Given the description of an element on the screen output the (x, y) to click on. 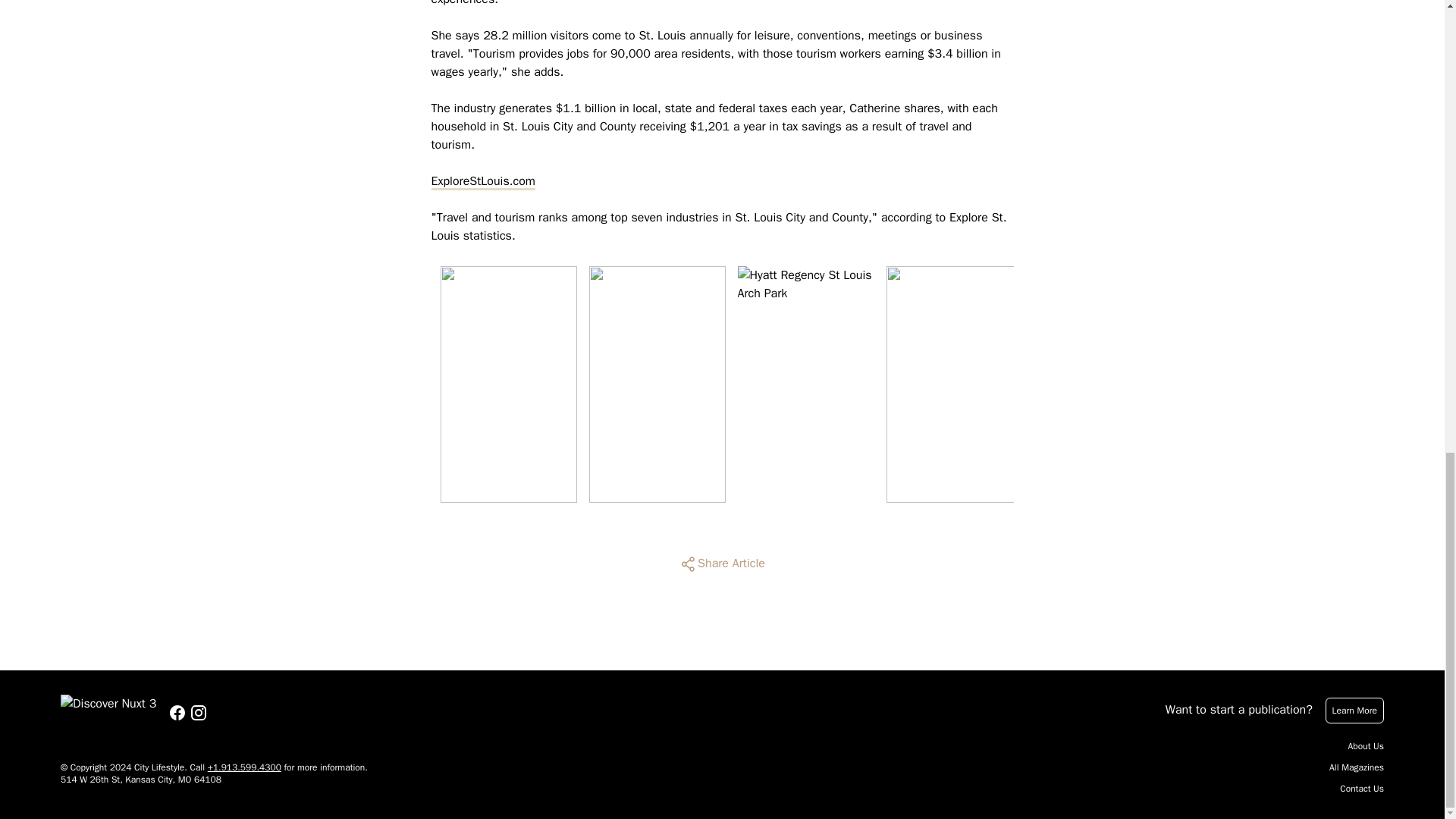
ExploreStLouis.com (482, 180)
Share Article (722, 563)
About Us (1366, 746)
All Magazines (1356, 767)
Learn More (1354, 710)
Contact Us (1361, 788)
